Given the description of an element on the screen output the (x, y) to click on. 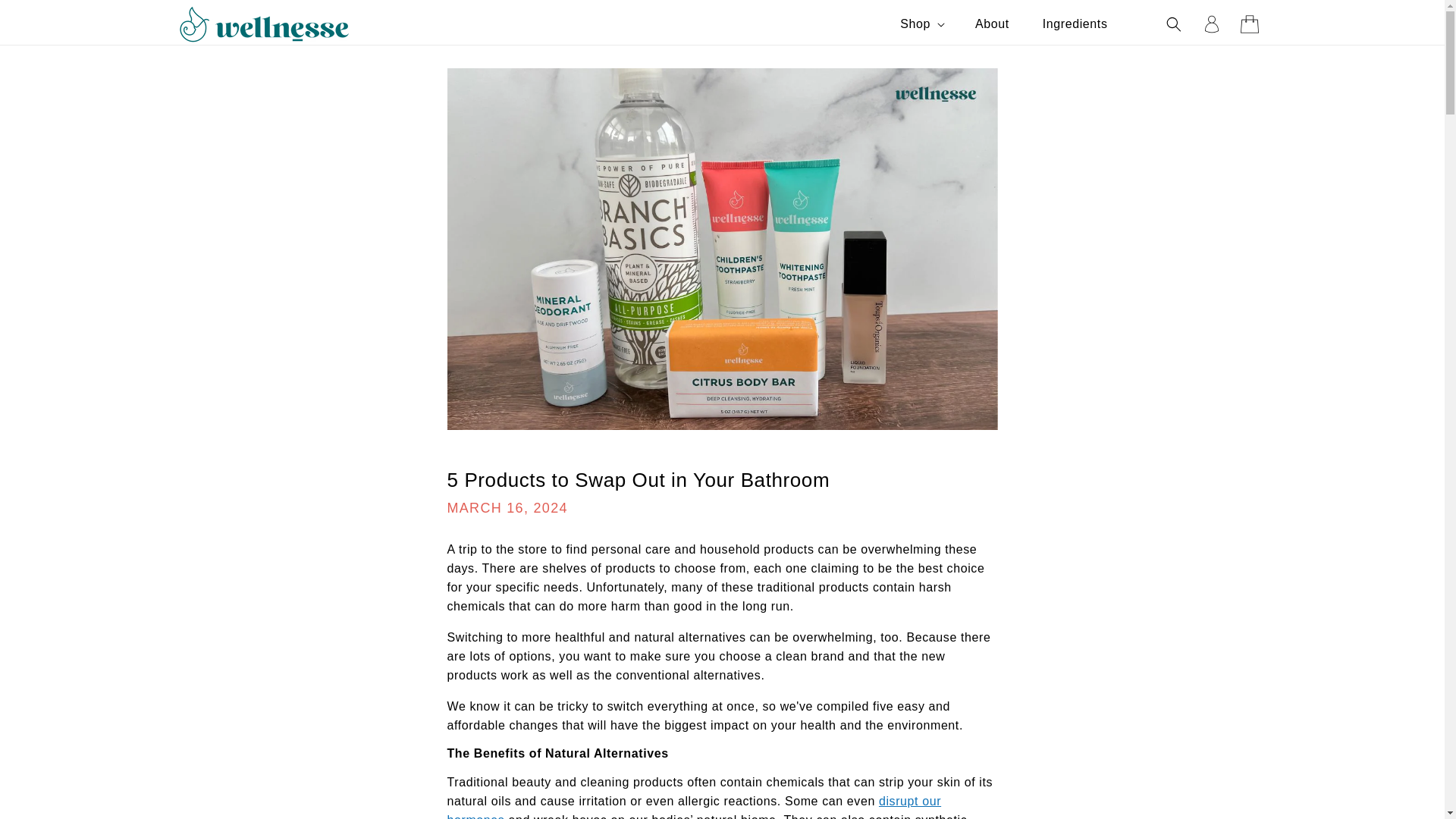
Cart (1249, 23)
Log in (1211, 23)
Skip to content (45, 16)
Ingredients (1074, 24)
About (991, 24)
disrupt our hormones (694, 806)
